Given the description of an element on the screen output the (x, y) to click on. 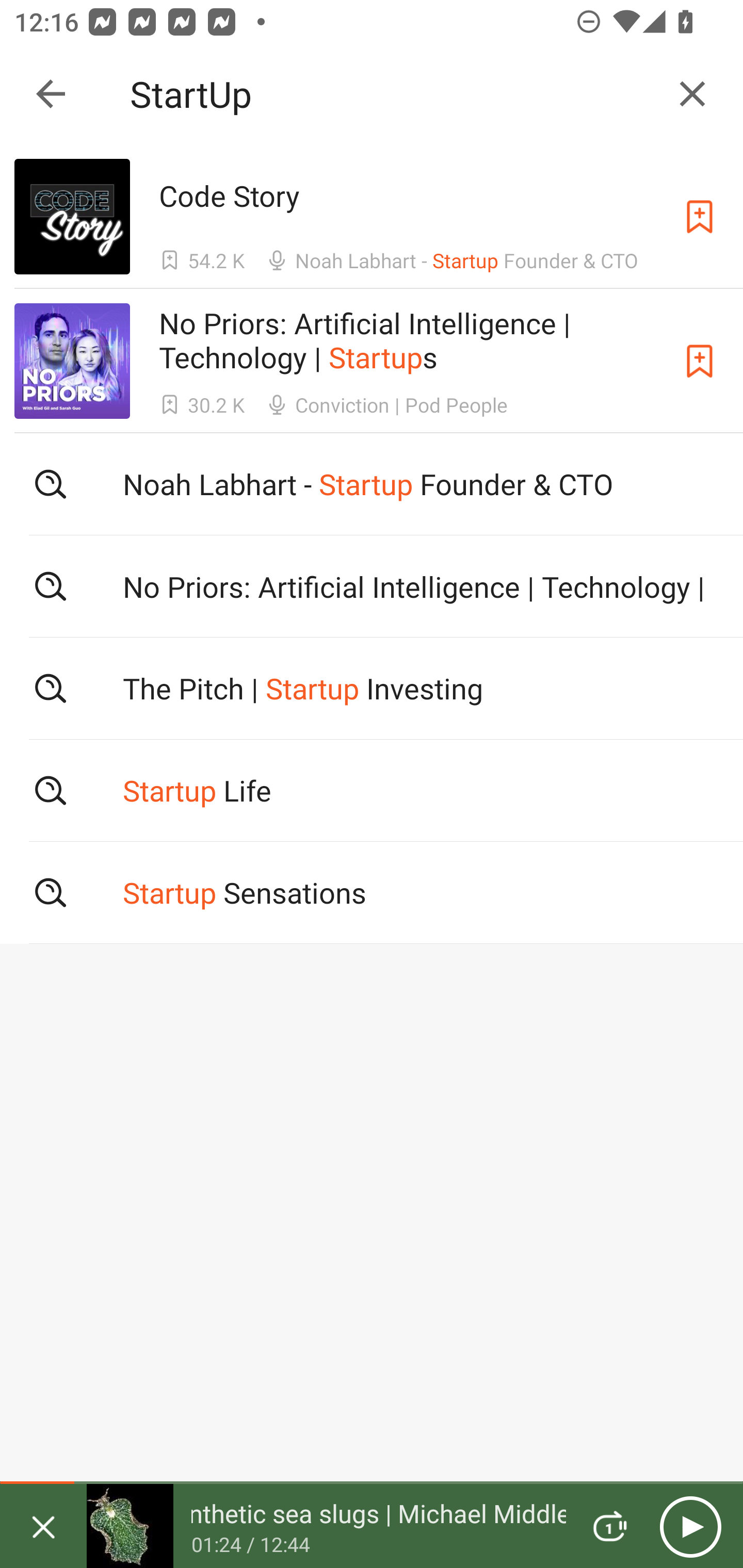
Collapse (50, 93)
Clear query (692, 93)
StartUp (393, 94)
Subscribe (699, 216)
Subscribe (699, 360)
 Noah Labhart - Startup Founder & CTO (371, 483)
 The Pitch | Startup Investing (371, 688)
 Startup Life (371, 791)
 Startup Sensations (371, 892)
Play (690, 1526)
